Given the description of an element on the screen output the (x, y) to click on. 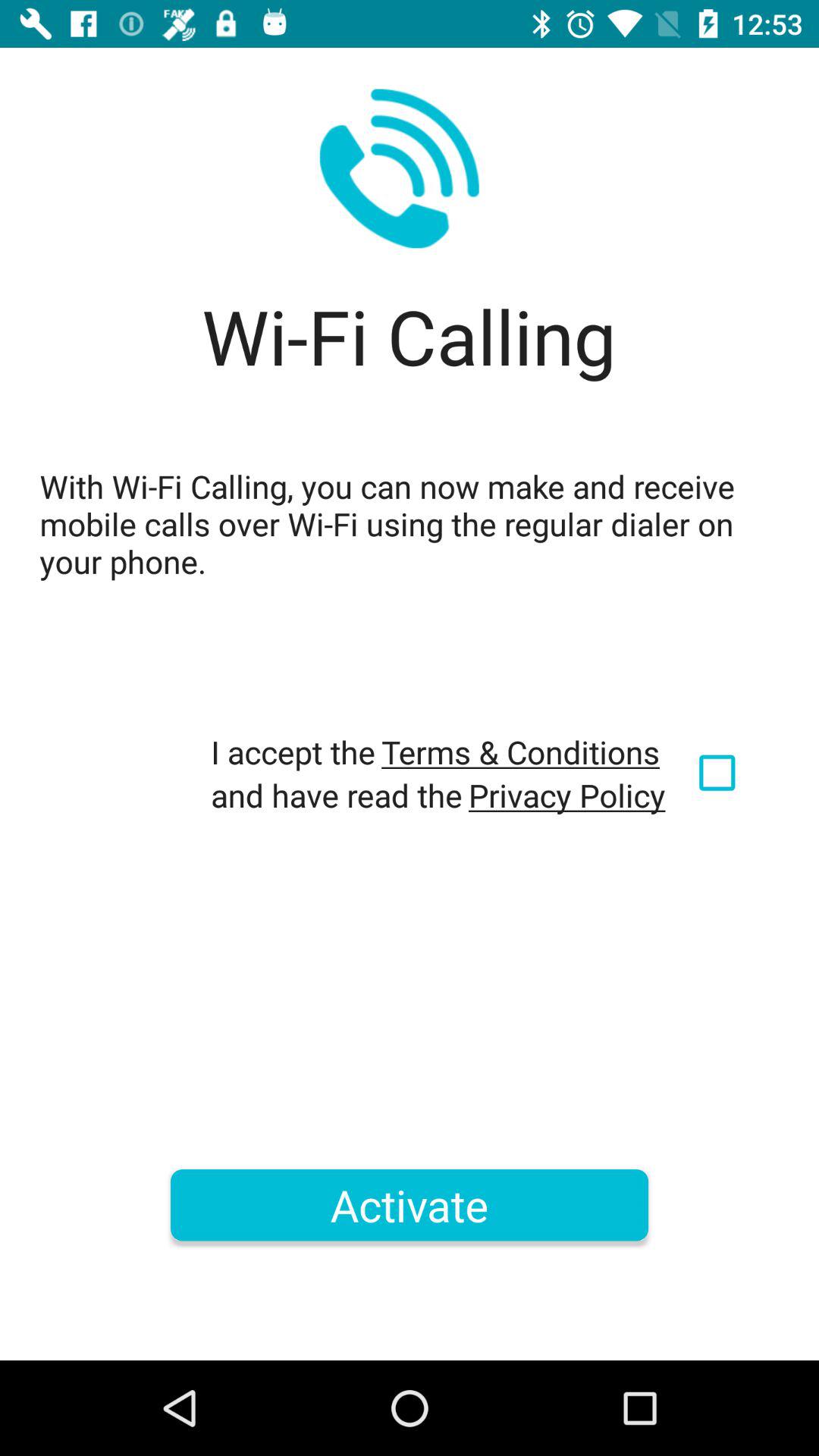
choose the icon below and have read (409, 1205)
